Given the description of an element on the screen output the (x, y) to click on. 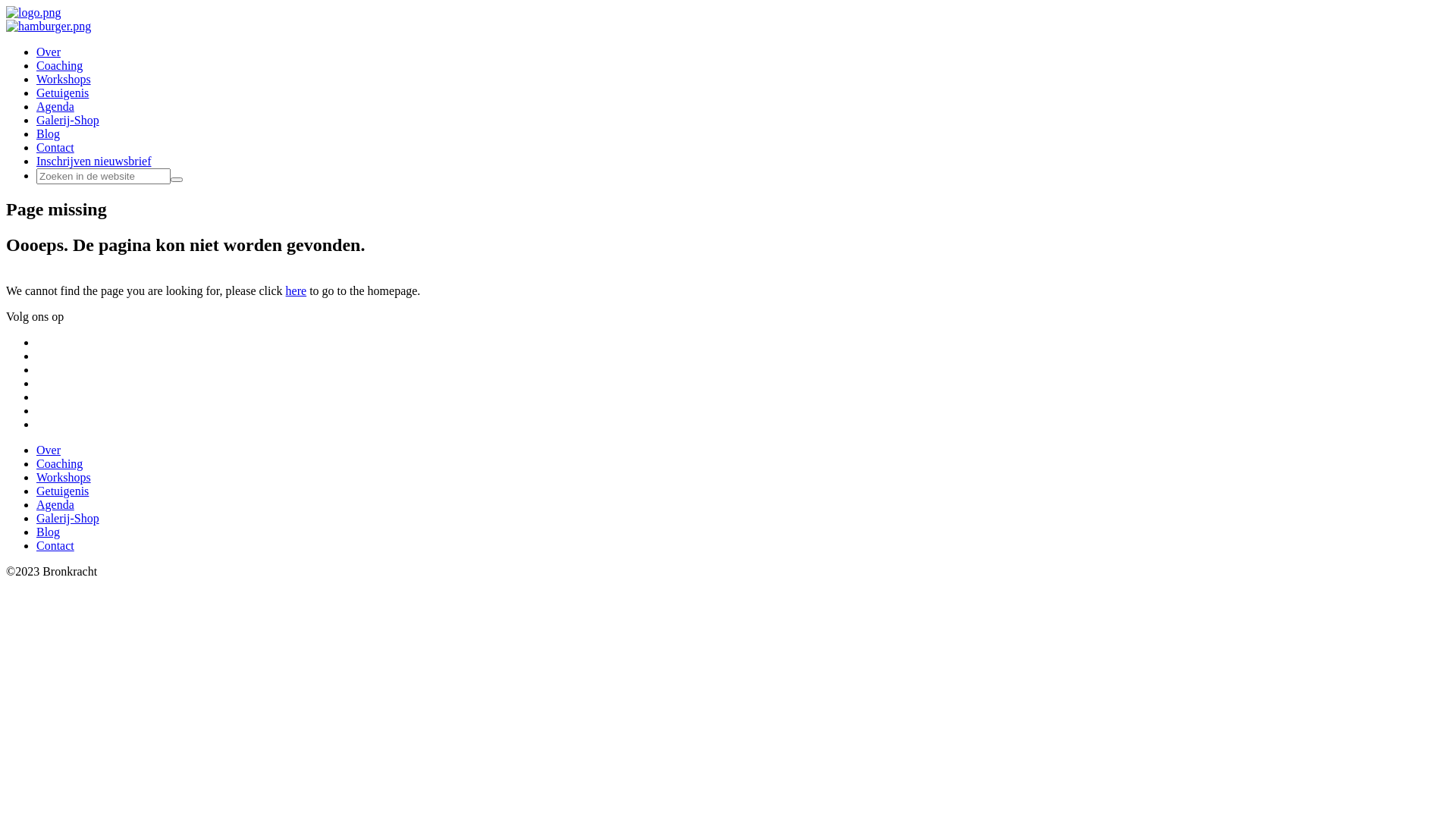
Workshops Element type: text (63, 78)
Bronkracht Element type: hover (33, 12)
Over Element type: text (48, 449)
Agenda Element type: text (55, 106)
Workshops Element type: text (63, 476)
Over Element type: text (48, 51)
Galerij-Shop Element type: text (67, 517)
Galerij-Shop Element type: text (67, 119)
Blog Element type: text (47, 531)
Contact Element type: text (55, 545)
Blog Element type: text (47, 133)
Getuigenis Element type: text (62, 490)
Getuigenis Element type: text (62, 92)
here Element type: text (296, 290)
Inschrijven nieuwsbrief Element type: text (93, 160)
Contact Element type: text (55, 147)
Agenda Element type: text (55, 504)
Coaching Element type: text (59, 463)
Coaching Element type: text (59, 65)
